Given the description of an element on the screen output the (x, y) to click on. 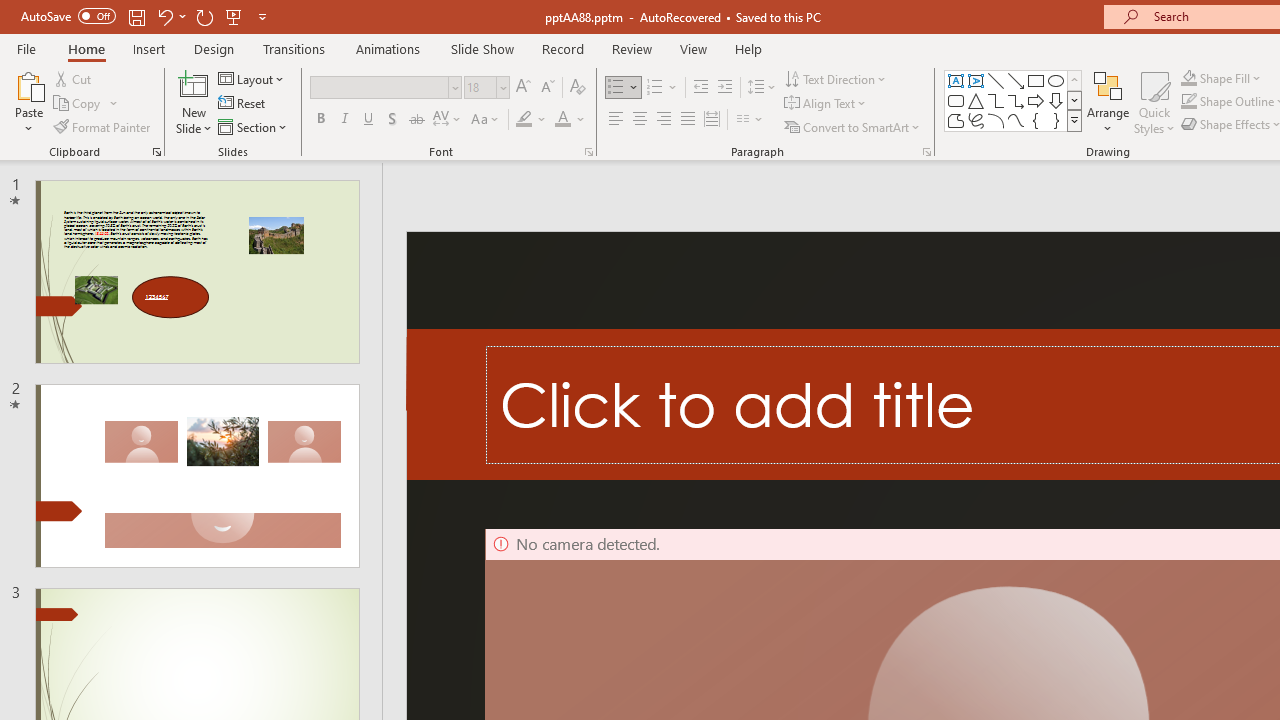
Font Size (480, 87)
Clear Formatting (577, 87)
Record (562, 48)
Quick Styles (1154, 102)
System (10, 11)
Rectangle: Rounded Corners (955, 100)
Customize Quick Access Toolbar (262, 15)
Font Size (486, 87)
Paste (28, 84)
Italic (344, 119)
Shape Fill (1221, 78)
Text Highlight Color Yellow (524, 119)
Decrease Font Size (547, 87)
Slide Show (481, 48)
Strikethrough (416, 119)
